Given the description of an element on the screen output the (x, y) to click on. 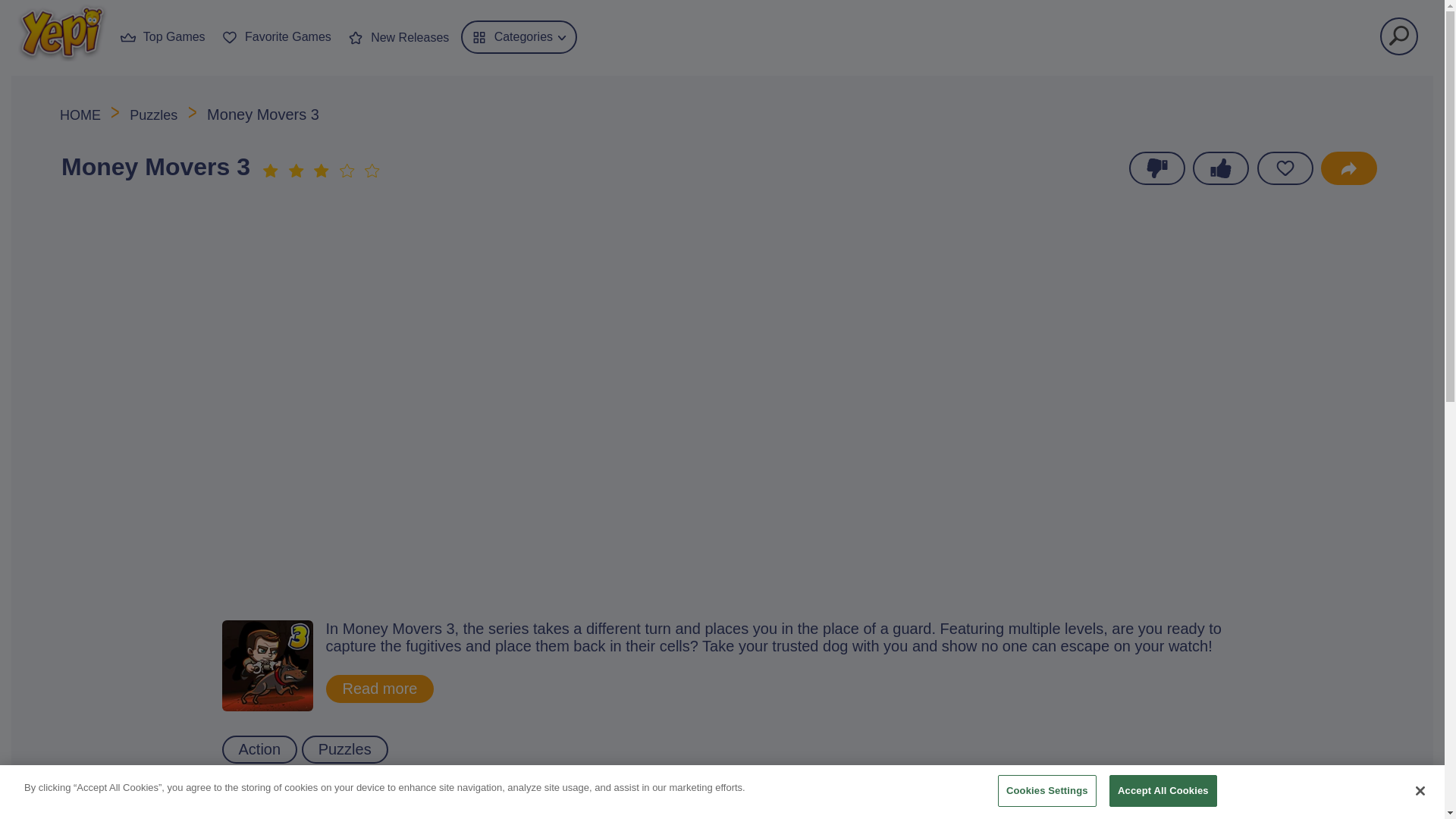
Puzzles (344, 749)
Action (259, 749)
Puzzles (153, 114)
Categories (518, 37)
Top Games (162, 35)
Favorite Games (275, 35)
HOME (81, 114)
New Releases (397, 35)
